Given the description of an element on the screen output the (x, y) to click on. 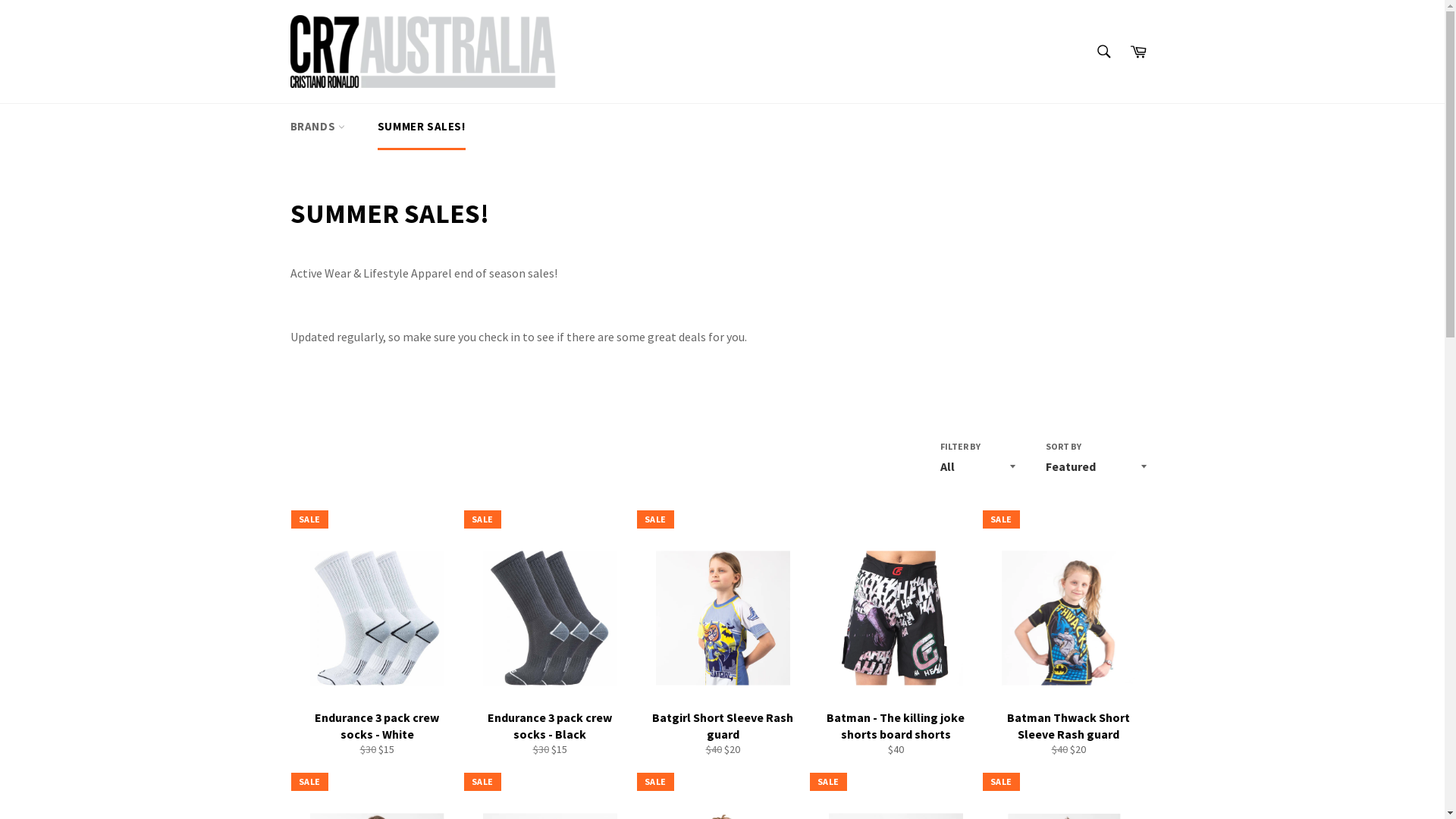
SUMMER SALES! Element type: text (421, 126)
BRANDS Element type: text (316, 126)
Batman - The killing joke shorts board shorts
$40 Element type: text (894, 641)
Cart Element type: text (1138, 51)
Search Element type: text (1104, 51)
